Given the description of an element on the screen output the (x, y) to click on. 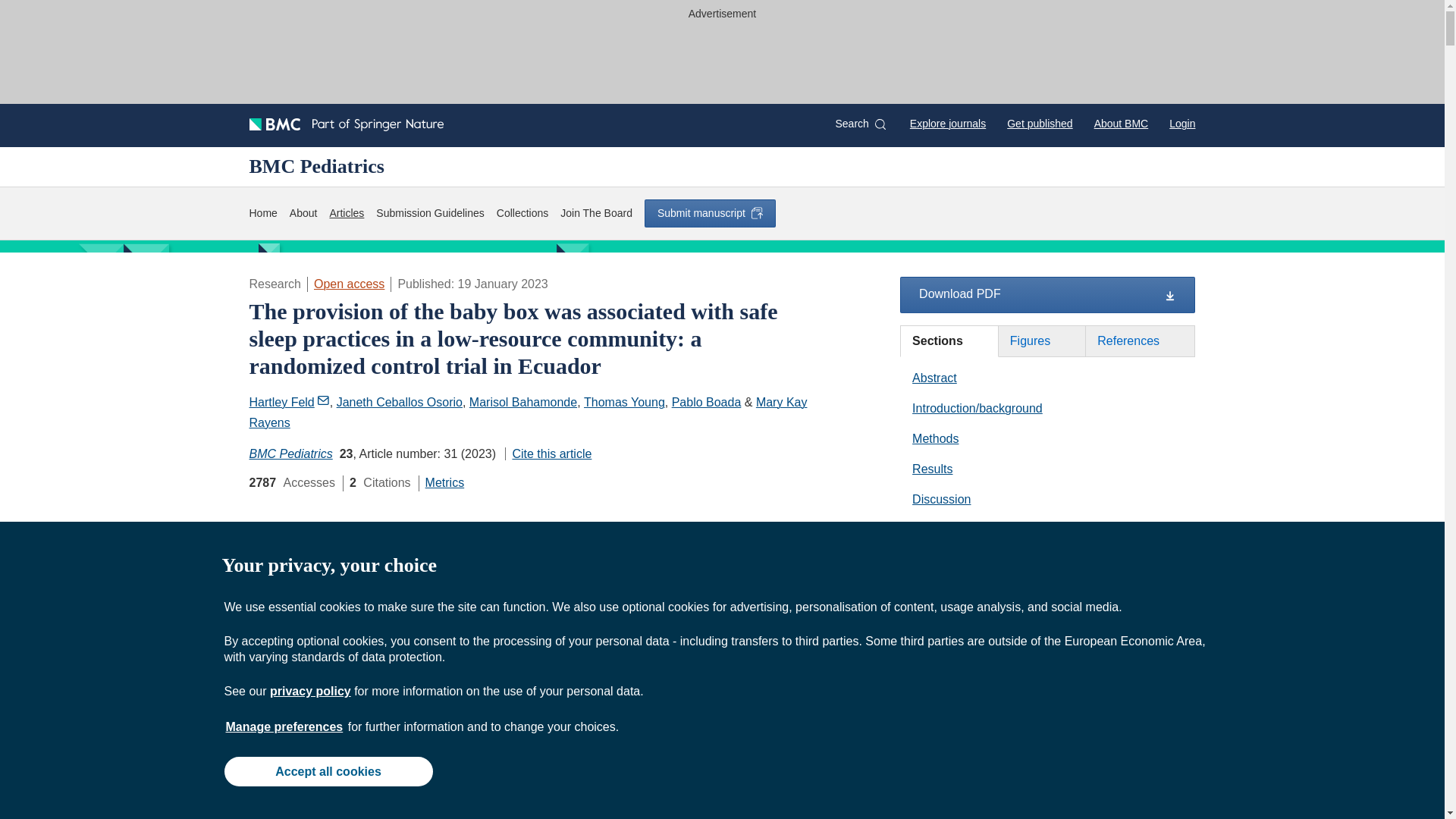
Accept all cookies (328, 771)
Get published (1039, 123)
Articles (346, 212)
Explore journals (947, 123)
Mary Kay Rayens (527, 412)
Pablo Boada (706, 401)
Search (859, 123)
Home (262, 212)
Manage preferences (284, 726)
privacy policy (309, 690)
About (303, 212)
BMC Pediatrics (289, 453)
Thomas Young (624, 401)
Submit manuscript (710, 212)
About BMC (1121, 123)
